Given the description of an element on the screen output the (x, y) to click on. 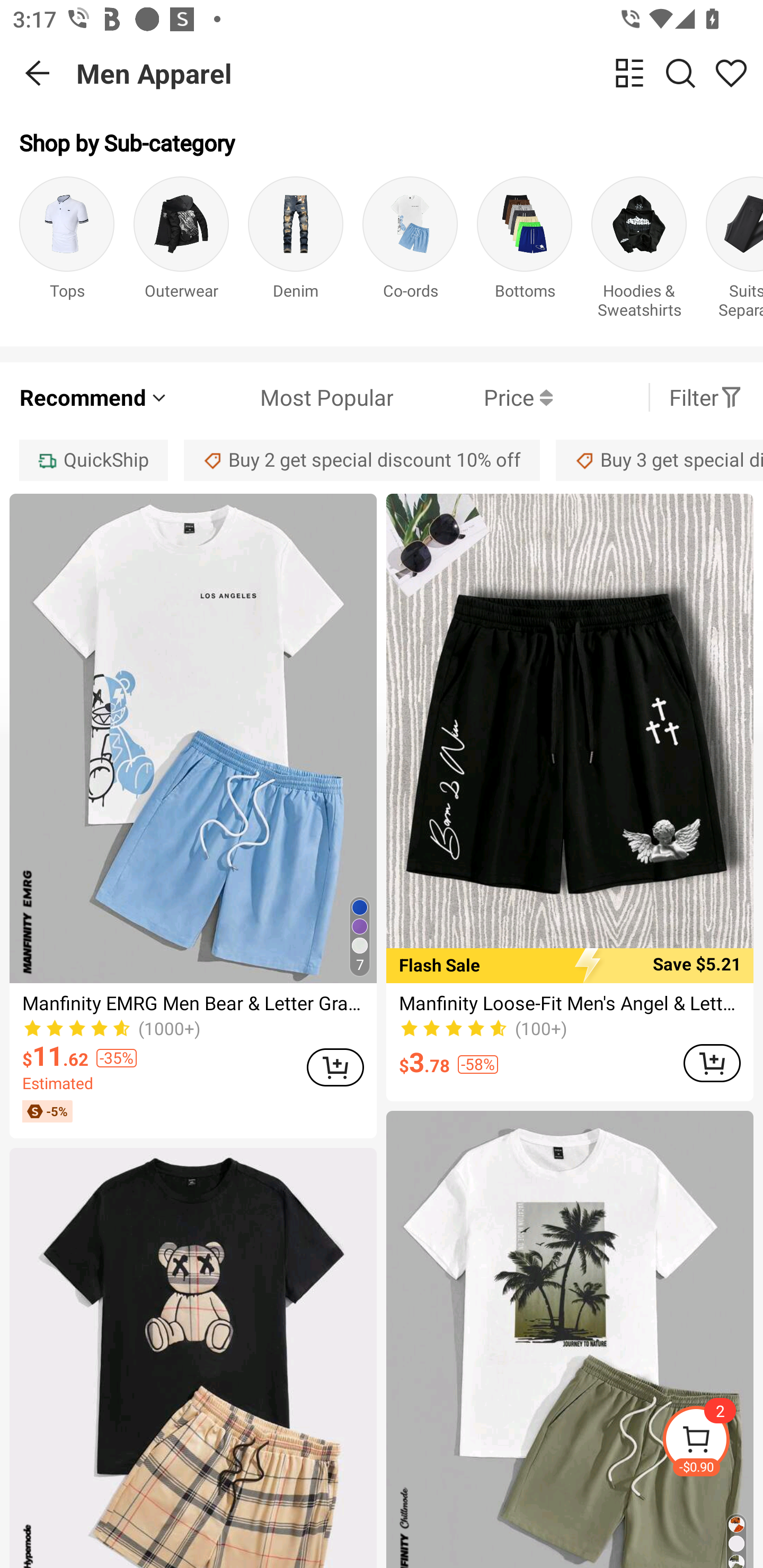
Men Apparel change view Search Share (419, 72)
change view (629, 72)
Search (679, 72)
Share (730, 72)
Tops (66, 251)
Outerwear (180, 251)
Denim (295, 251)
Co-ords (409, 251)
Bottoms (524, 251)
Hoodies & Sweatshirts (638, 251)
Suits & Separates (734, 251)
Recommend (94, 397)
Most Popular (280, 397)
Price (472, 397)
Filter (705, 397)
QuickShip (93, 460)
Buy 2 get special discount 10% off (361, 460)
ADD TO CART (711, 1062)
ADD TO CART (334, 1067)
-$0.90 (712, 1441)
